Given the description of an element on the screen output the (x, y) to click on. 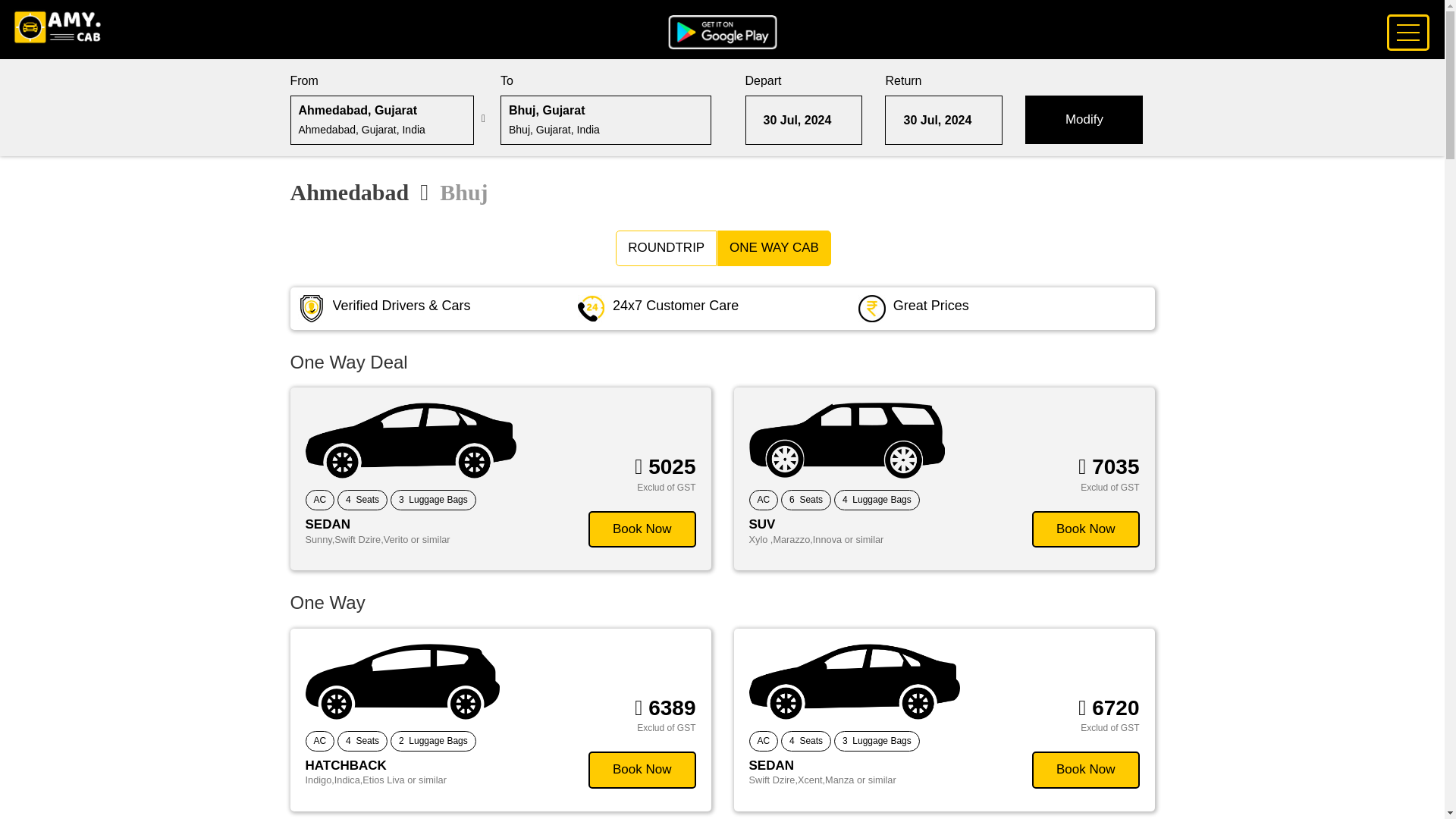
Book Now (1085, 529)
AC (763, 499)
ONE WAY CAB (774, 247)
3  Luggage Bags (433, 499)
Book Now (1085, 769)
AC (763, 741)
4  Seats (805, 741)
Book Now (641, 769)
4  Luggage Bags (877, 499)
AC (319, 741)
4  Seats (362, 499)
4  Seats (362, 741)
2  Luggage Bags (433, 741)
Modify (1083, 119)
ROUNDTRIP (665, 247)
